Given the description of an element on the screen output the (x, y) to click on. 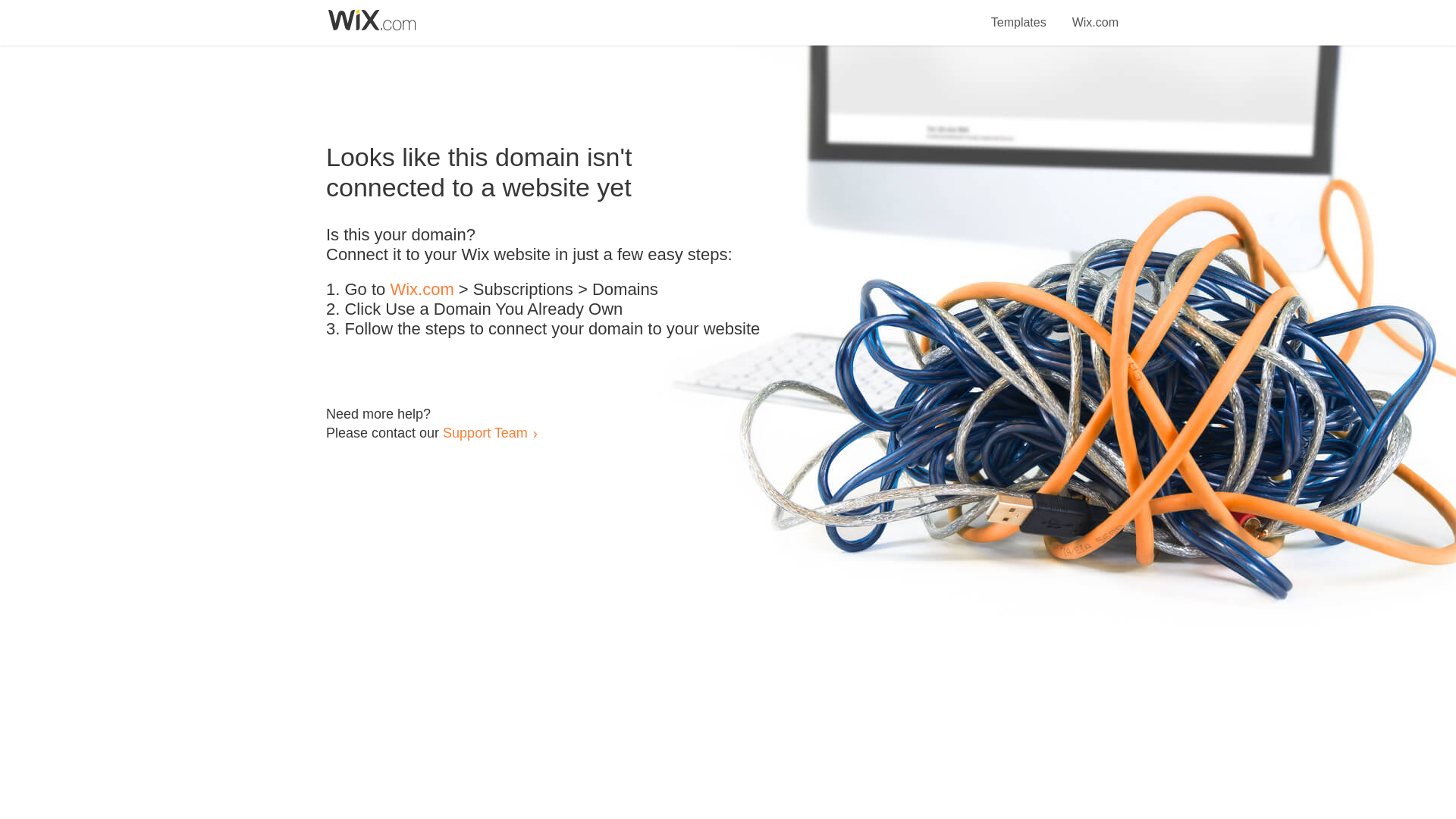
Templates (1018, 14)
Wix.com (1095, 14)
Wix.com (421, 289)
Support Team (484, 432)
